Given the description of an element on the screen output the (x, y) to click on. 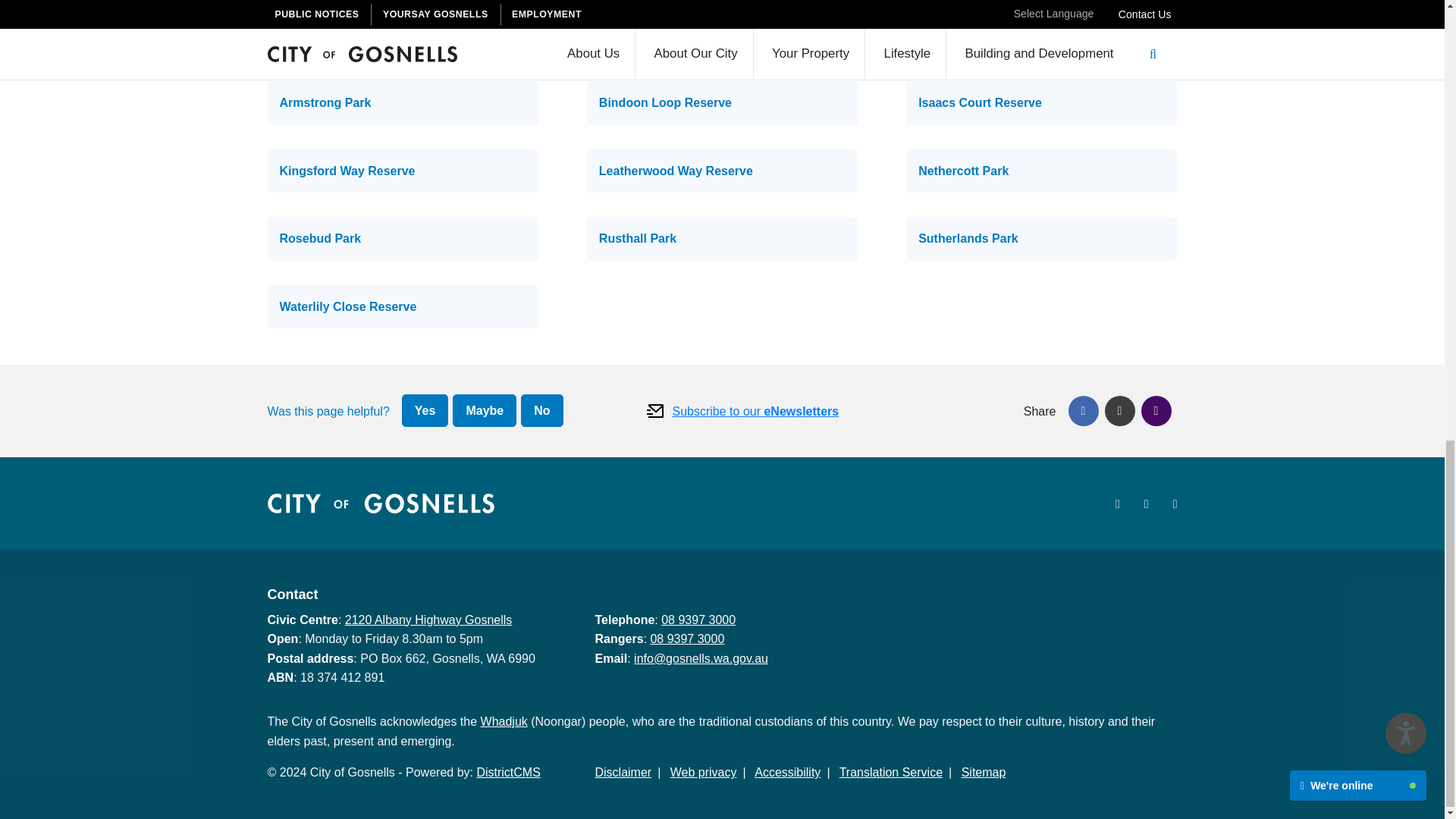
Open the print dialog. (1155, 410)
Email a link to this page. (1118, 410)
Share this page on facebook. (1082, 410)
